Given the description of an element on the screen output the (x, y) to click on. 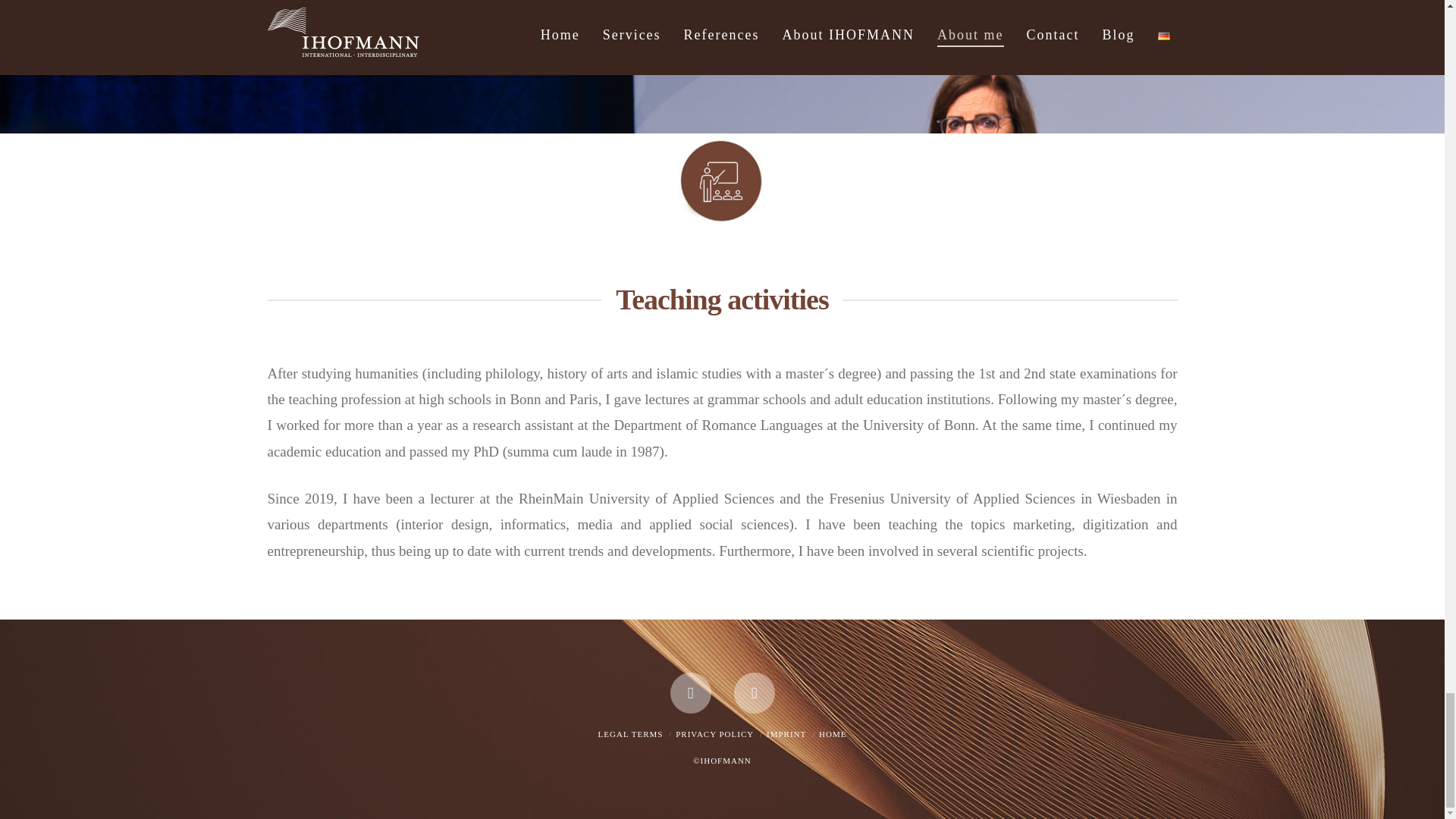
PRIVACY POLICY (714, 733)
IMPRINT (786, 733)
HOME (831, 733)
XING (753, 692)
LinkedIn (690, 692)
LEGAL TERMS (630, 733)
